Given the description of an element on the screen output the (x, y) to click on. 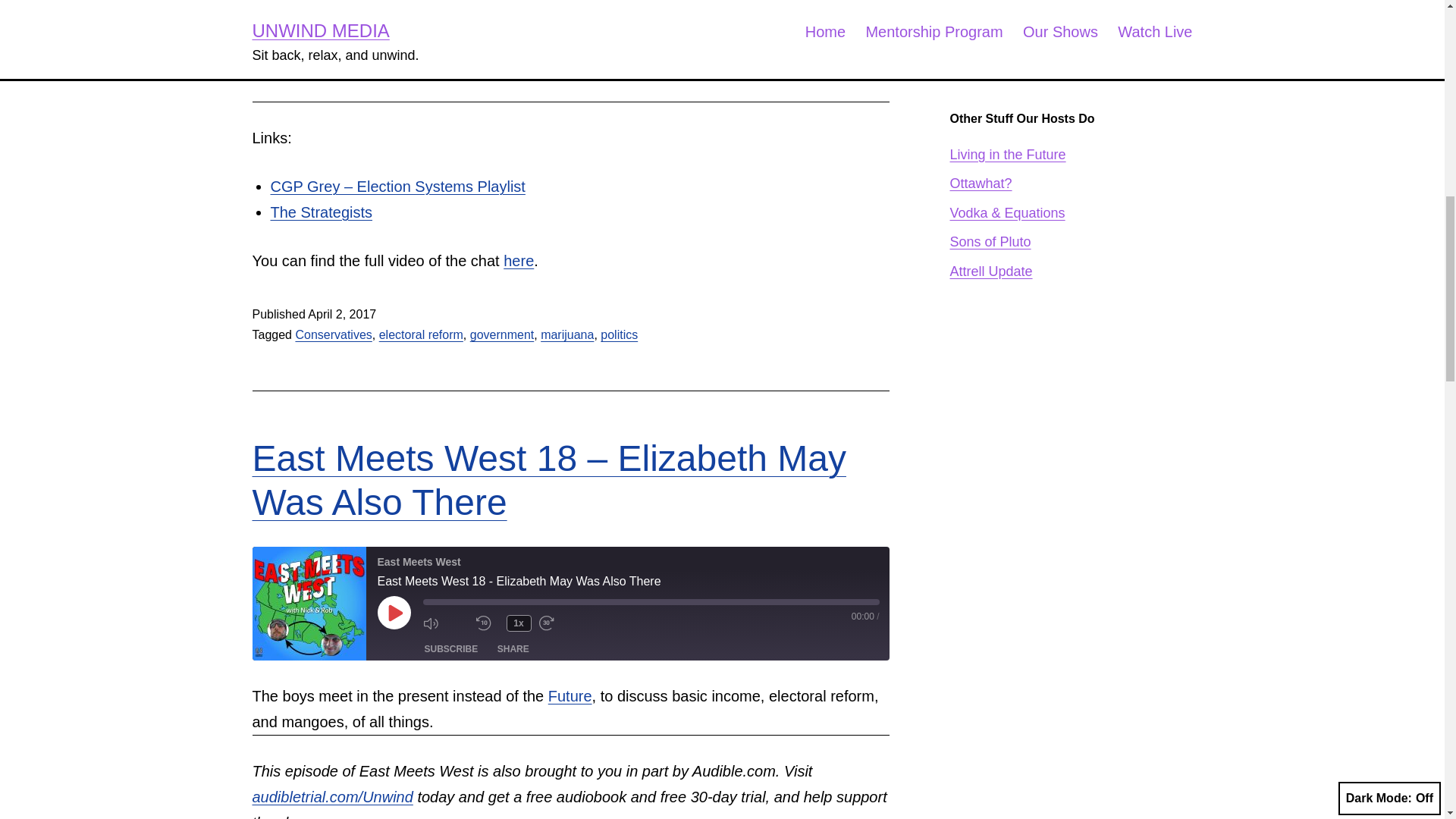
electoral reform (420, 334)
Conservatives (333, 334)
government (502, 334)
marijuana (567, 334)
here (518, 260)
The Strategists (320, 211)
